Given the description of an element on the screen output the (x, y) to click on. 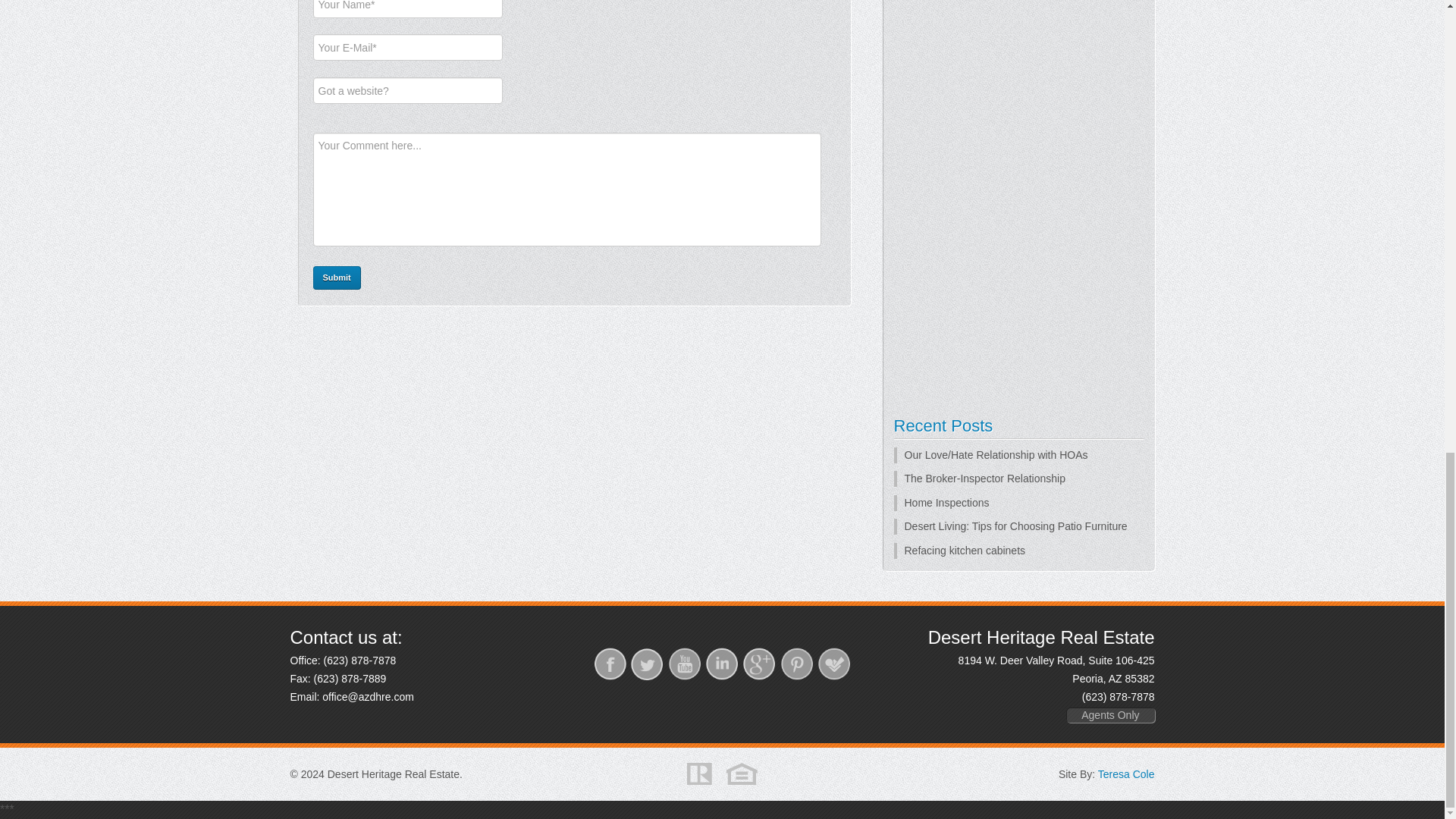
Submit (336, 277)
